Given the description of an element on the screen output the (x, y) to click on. 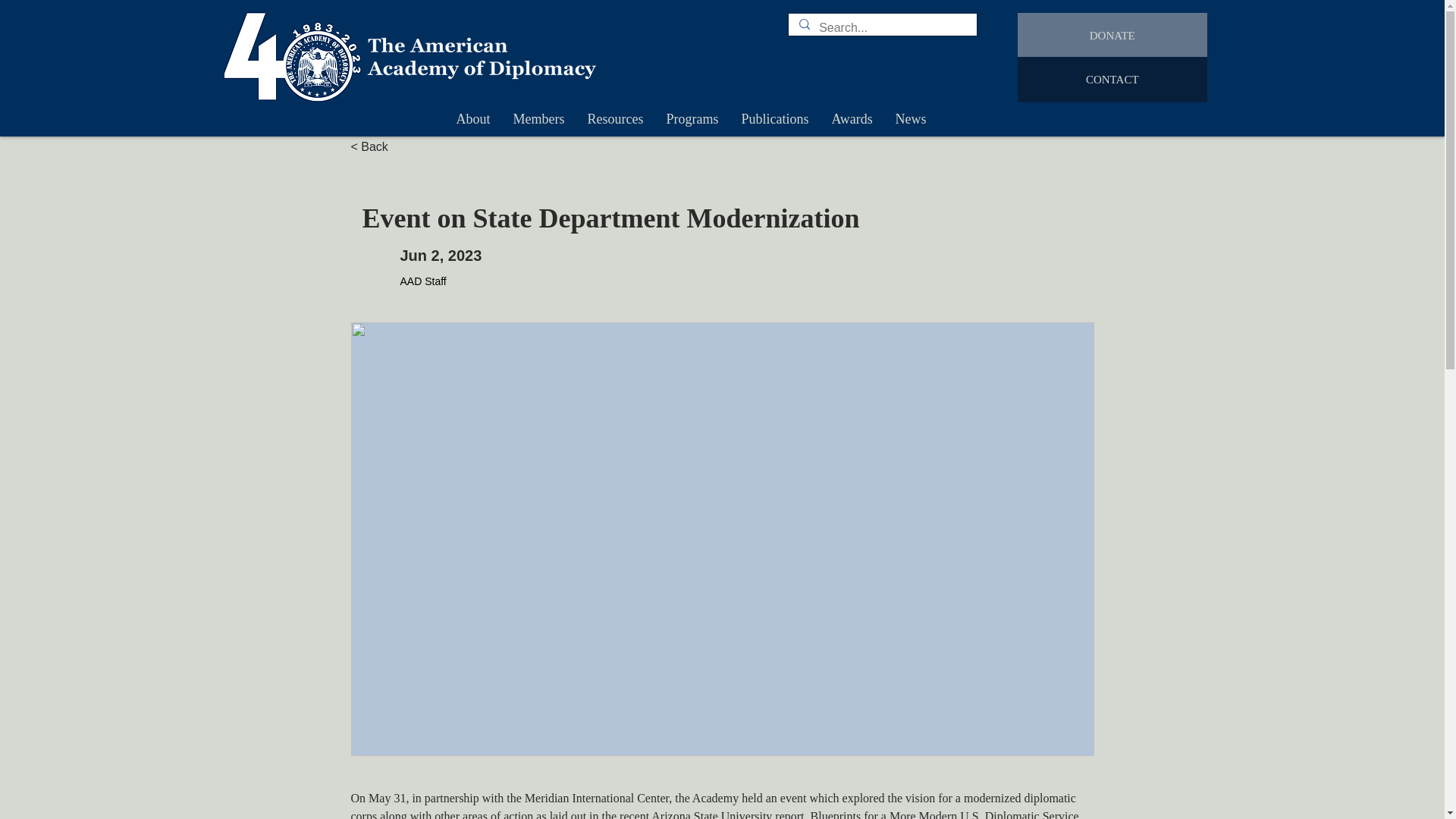
Members (539, 118)
Awards (852, 118)
DONATE (1112, 35)
About (472, 118)
Programs (692, 118)
Publications (774, 118)
CONTACT (1112, 79)
Resources (615, 118)
